Given the description of an element on the screen output the (x, y) to click on. 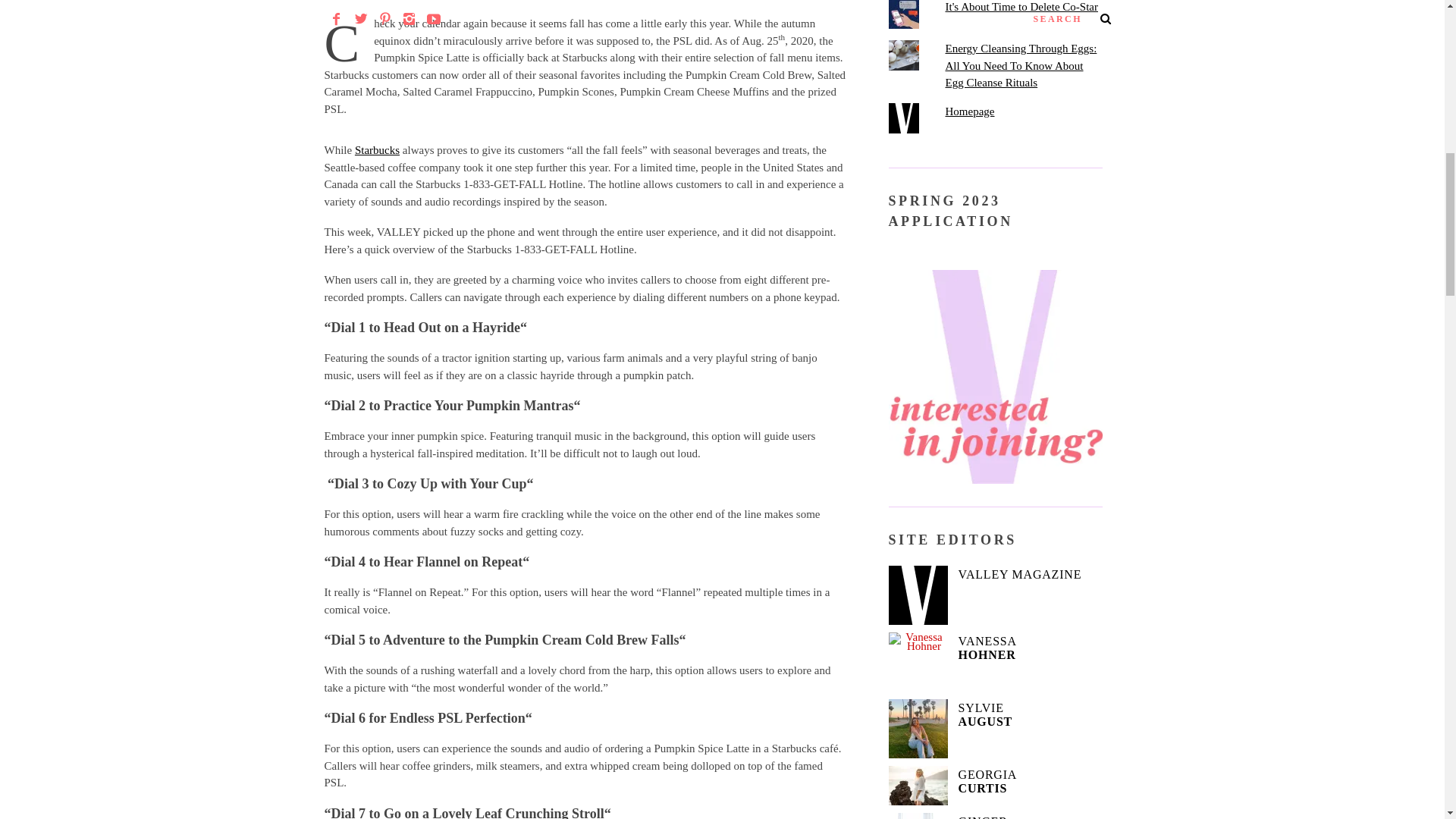
Homepage (969, 111)
Vanessa Hohner (917, 661)
It's About Time to Delete Co-Star (1020, 6)
VALLEY Magazine (917, 594)
